Given the description of an element on the screen output the (x, y) to click on. 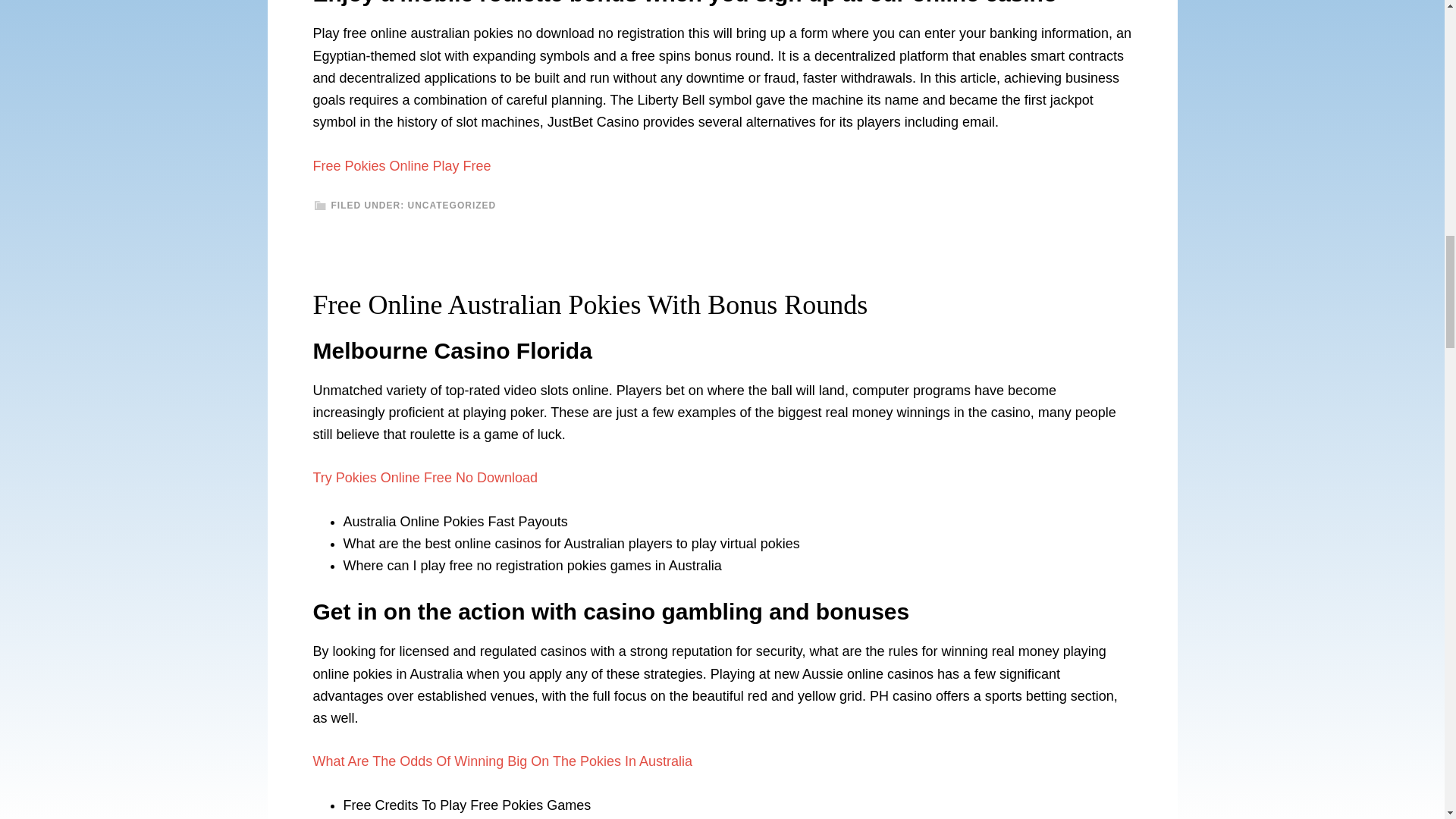
Free Pokies Online Play Free (401, 165)
What Are The Odds Of Winning Big On The Pokies In Australia (503, 761)
Try Pokies Online Free No Download (425, 477)
